Given the description of an element on the screen output the (x, y) to click on. 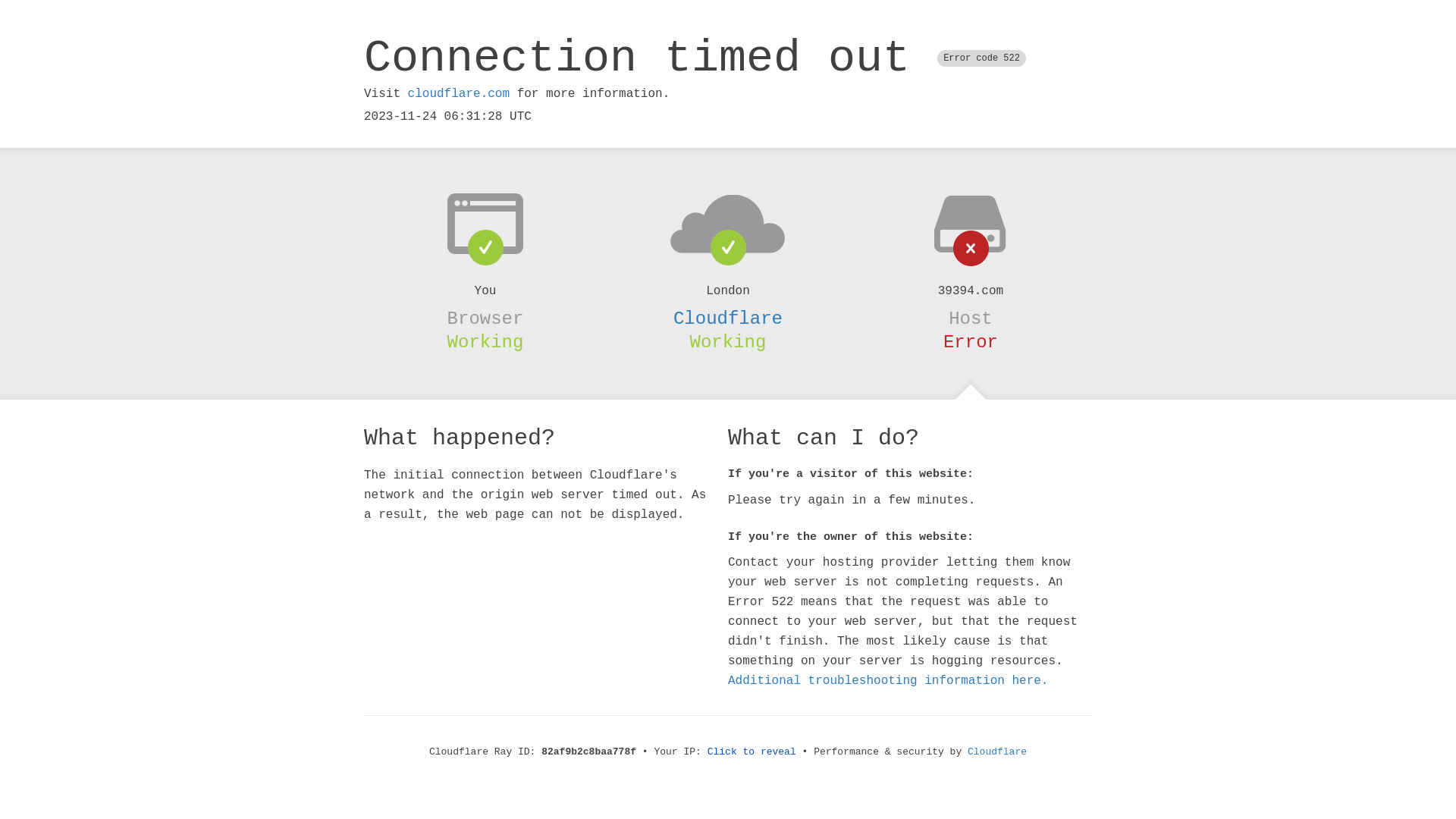
Click to reveal Element type: text (751, 751)
Cloudflare Element type: text (996, 751)
Additional troubleshooting information here. Element type: text (888, 680)
Cloudflare Element type: text (727, 318)
cloudflare.com Element type: text (458, 93)
